Given the description of an element on the screen output the (x, y) to click on. 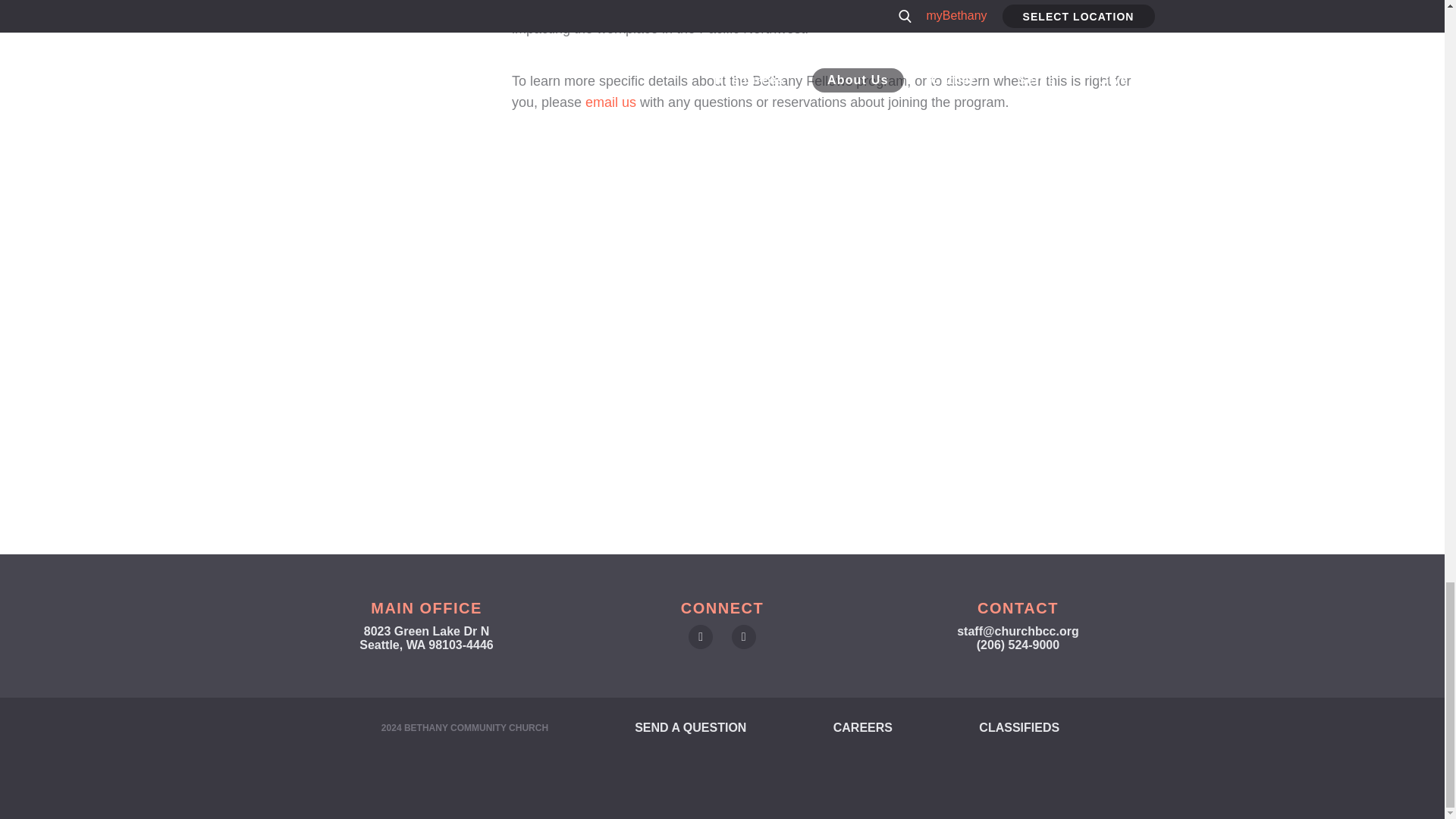
Twitter link (743, 636)
Facebook link (700, 636)
